Given the description of an element on the screen output the (x, y) to click on. 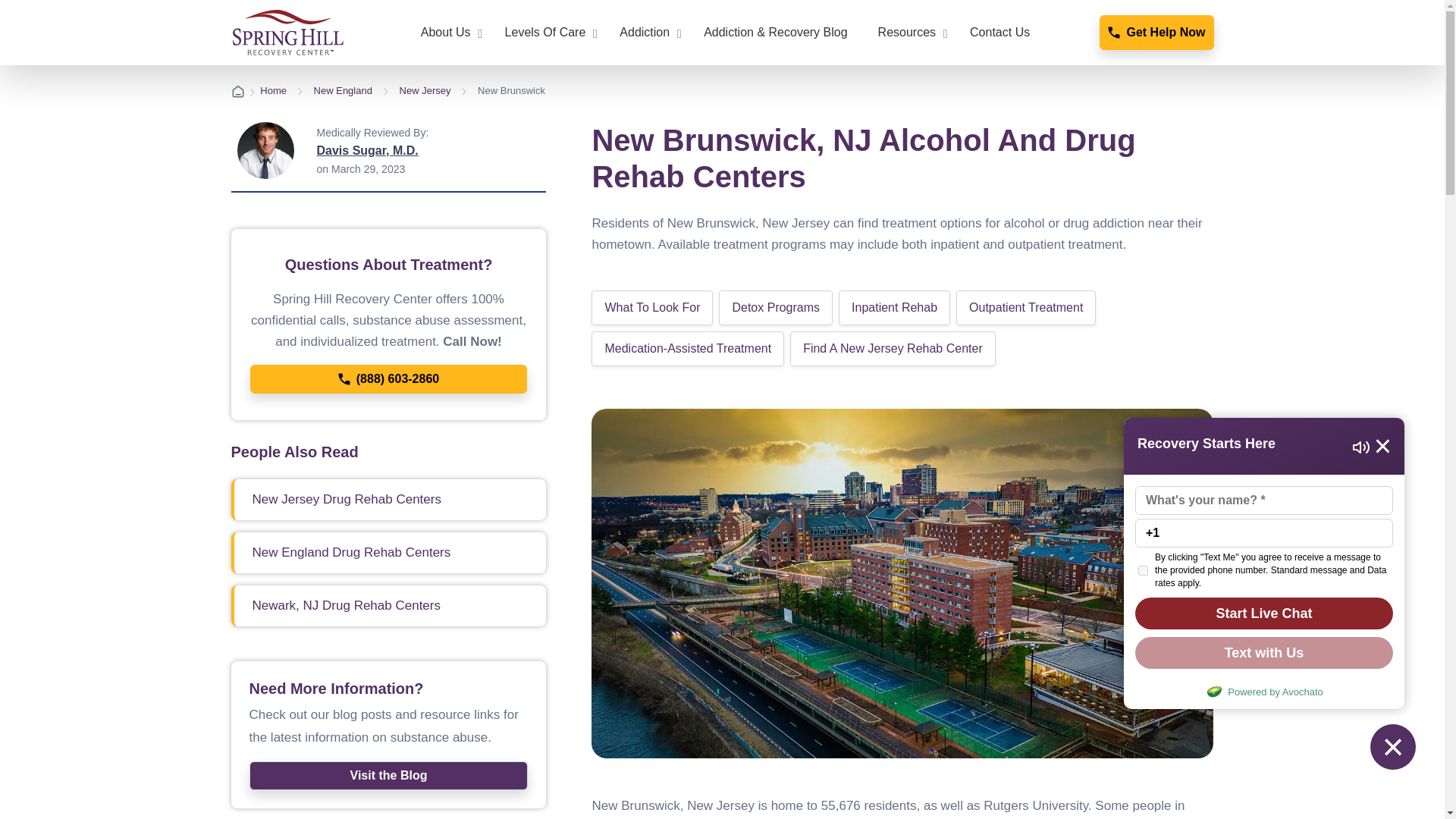
Levels Of Care (547, 32)
Addiction (646, 32)
About Us (447, 32)
